Given the description of an element on the screen output the (x, y) to click on. 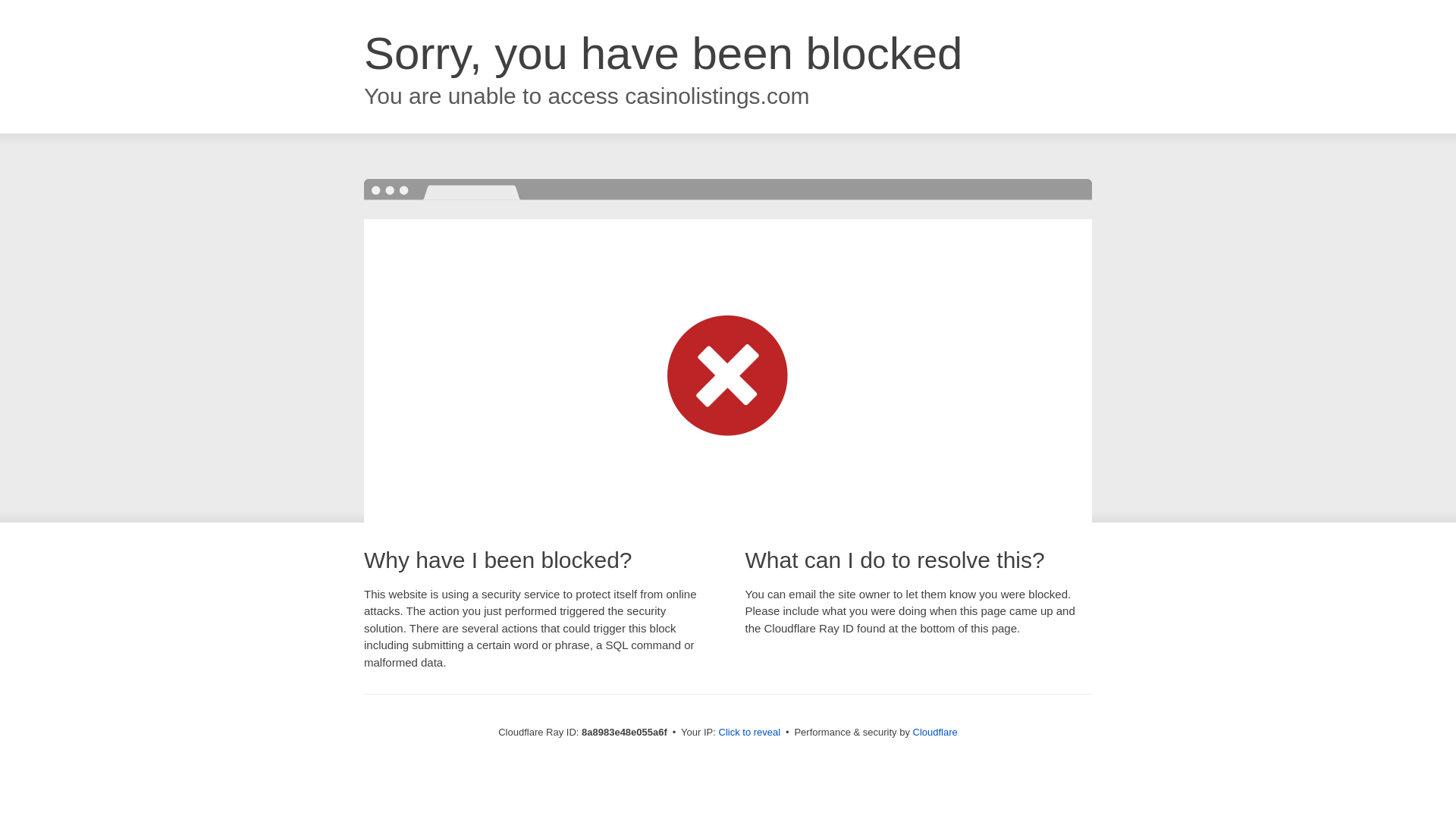
Click to reveal (749, 732)
Cloudflare (935, 731)
